Given the description of an element on the screen output the (x, y) to click on. 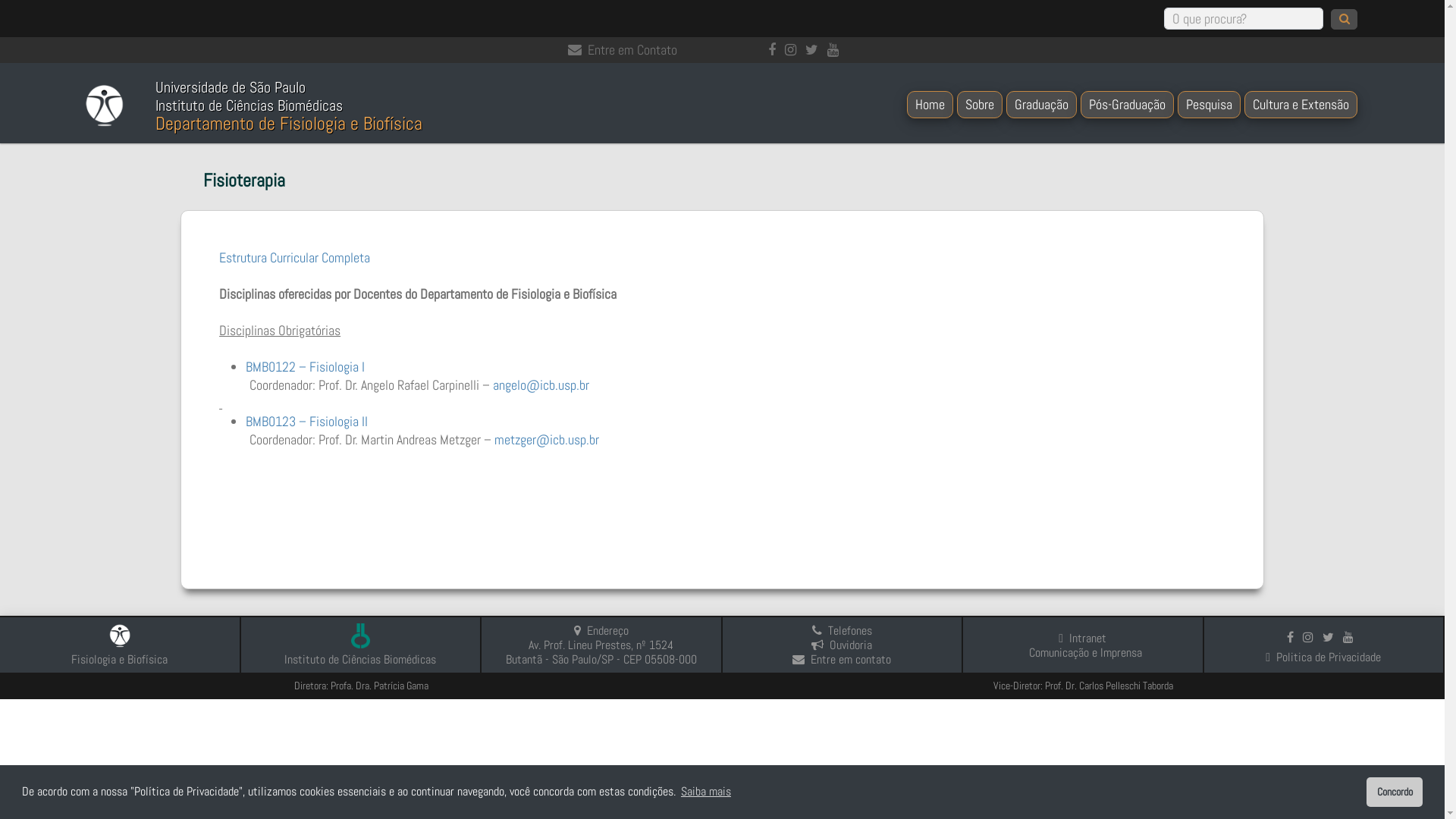
metzger@icb.usp.br Element type: text (546, 439)
Acesse o canal do Instituto no Youtube Element type: hover (835, 49)
Acesse o site do Instituto Element type: hover (360, 644)
Acesse o Facebook do Departamento Element type: hover (1292, 637)
Acesse o Twitter do Departamento Element type: hover (1330, 637)
Sobre Element type: text (979, 104)
Acesse o site do Departamento Element type: hover (119, 645)
Vice-Diretor: Prof. Dr. Carlos Pelleschi Taborda Element type: text (1083, 685)
Acesse o Facebook do Departamento Element type: hover (774, 49)
Ouvidoria Element type: text (841, 644)
Saiba mais Element type: text (705, 791)
Acesse o canal do Departamento no Youtube Element type: hover (1351, 637)
Politica de Privacidade Element type: text (1322, 657)
Acesse o Twitter do Departamento Element type: hover (814, 49)
Pesquisa Element type: text (1208, 104)
Telefones Element type: text (842, 630)
Entre em contato Element type: text (841, 659)
Home Element type: text (929, 104)
Intranet Element type: text (1082, 638)
search Element type: text (1343, 19)
Logotipo do Departamento Element type: hover (104, 105)
Concordo Element type: text (1394, 791)
angelo@icb.usp.br Element type: text (540, 384)
Acesse o Instagram do Departamento Element type: hover (792, 49)
Entre em Contato Element type: text (621, 49)
Acesse o Instagram do Departamento Element type: hover (1310, 637)
Procurar palavra em todo site Element type: hover (1243, 18)
Estrutura Curricular Completa Element type: text (294, 257)
